Given the description of an element on the screen output the (x, y) to click on. 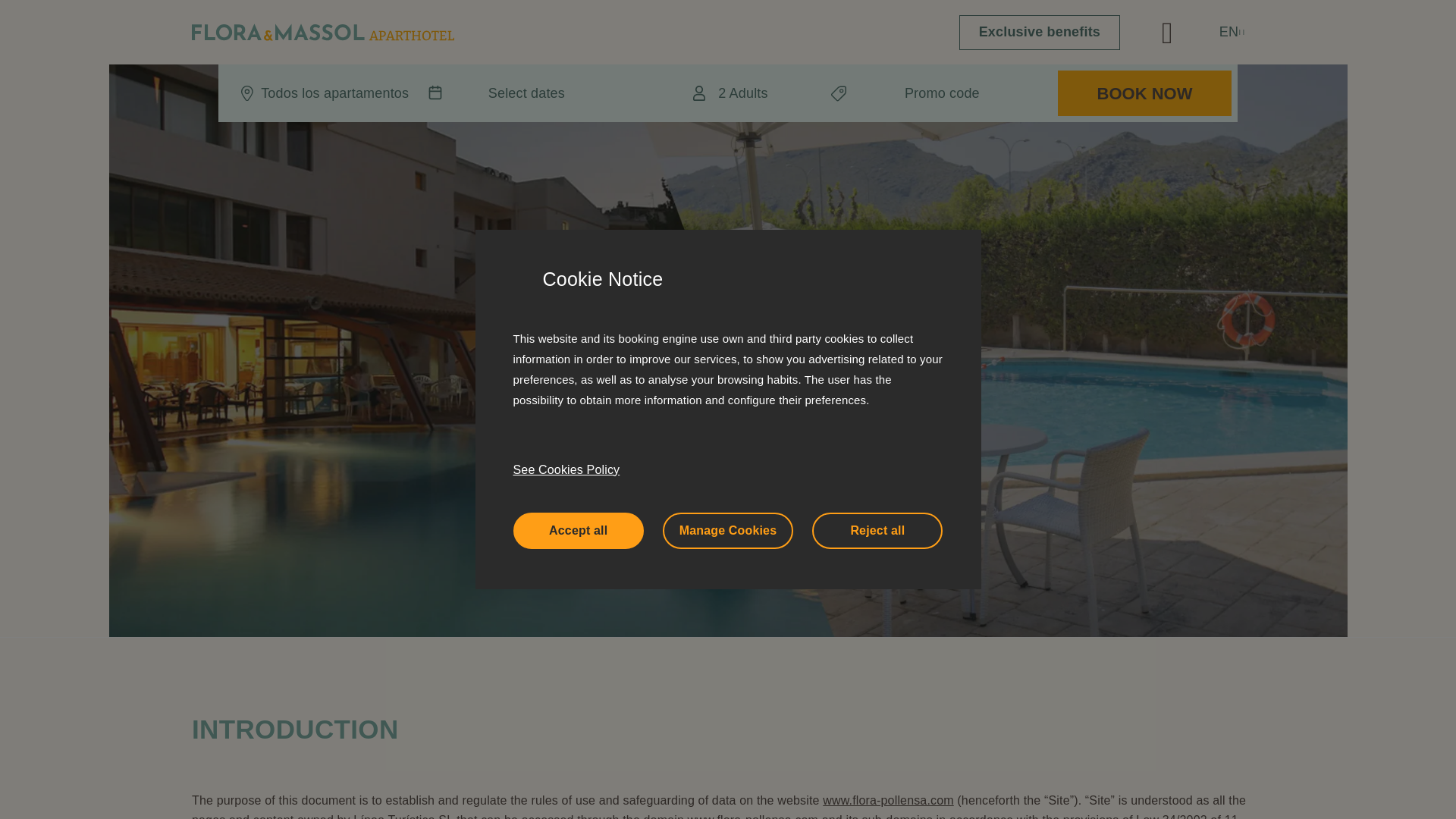
Flora Aparthotel (323, 32)
Flora Aparthotel (752, 816)
www.flora-pollensa.com (752, 816)
Reject all (877, 530)
BOOK NOW (1144, 93)
Flora Aparthotel (887, 799)
www.flora-pollensa.com (887, 799)
Accept all (577, 530)
Manage Cookies (727, 530)
